Given the description of an element on the screen output the (x, y) to click on. 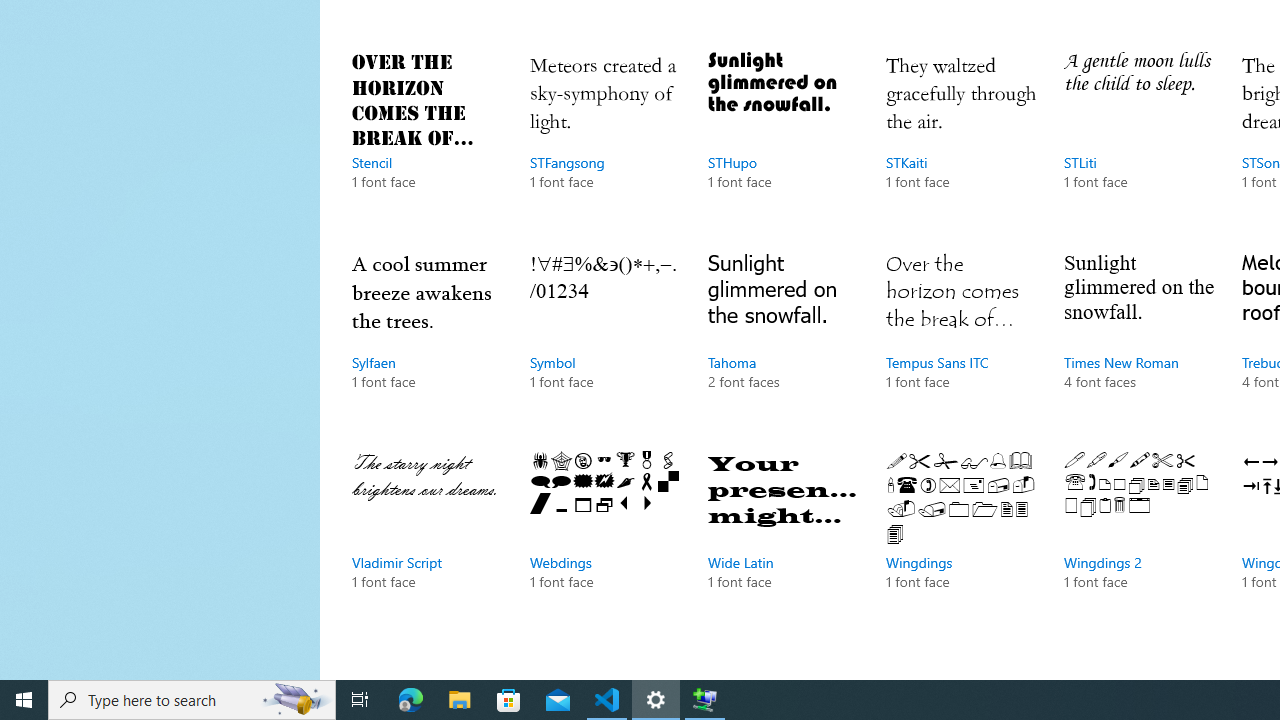
Microsoft Edge (411, 699)
Settings - 1 running window (656, 699)
Sylfaen, 1 font face (426, 340)
Visual Studio Code - 1 running window (607, 699)
Wide Latin, 1 font face (783, 540)
Start (24, 699)
Type here to search (191, 699)
File Explorer (460, 699)
Webdings, 1 font face (604, 540)
Tahoma, 2 font faces (783, 340)
STHupo, 1 font face (783, 141)
Microsoft Store (509, 699)
STLiti, 1 font face (1138, 141)
STFangsong, 1 font face (604, 141)
